Given the description of an element on the screen output the (x, y) to click on. 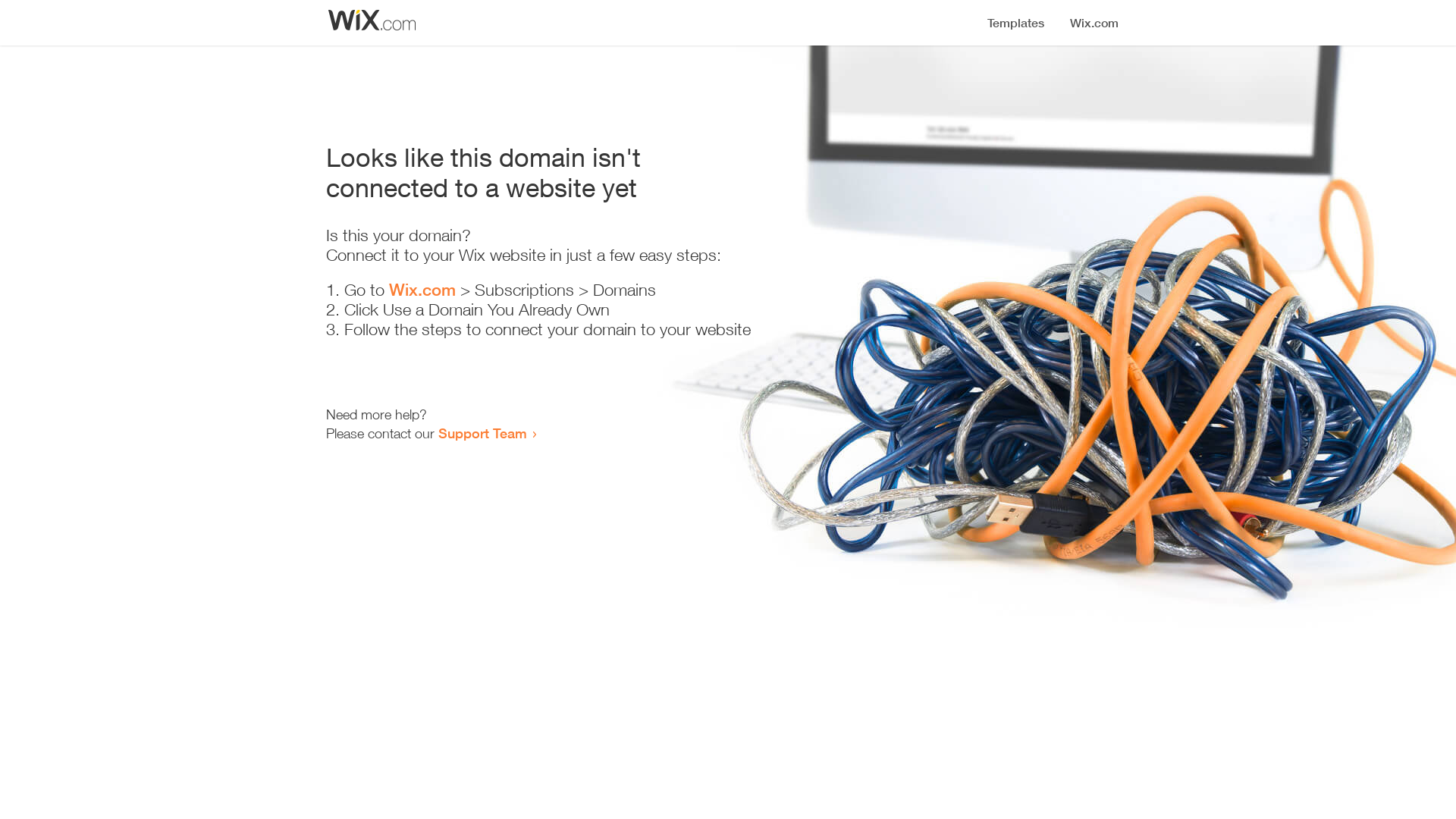
Wix.com Element type: text (422, 289)
Support Team Element type: text (482, 432)
